Given the description of an element on the screen output the (x, y) to click on. 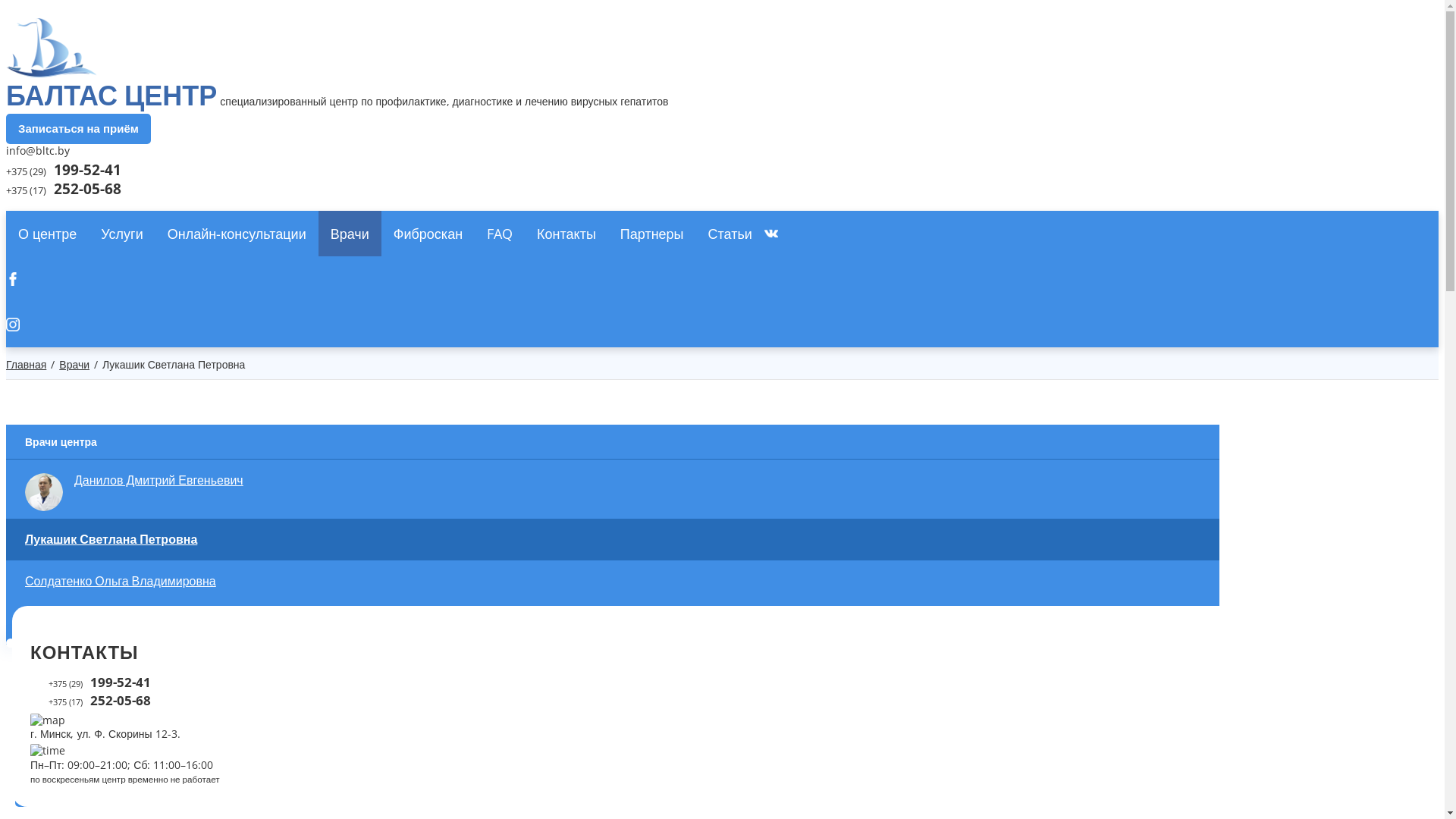
+375 (17) 252-05-68 Element type: text (63, 189)
+375 (29) 199-52-41 Element type: text (63, 170)
Instagram Element type: hover (612, 324)
Facebook Element type: hover (612, 278)
VKontakte Element type: hover (612, 233)
FAQ Element type: text (499, 233)
info@bltc.by Element type: text (37, 150)
+375 (29) 199-52-41 Element type: text (90, 682)
+375 (17) 252-05-68 Element type: text (90, 700)
